Given the description of an element on the screen output the (x, y) to click on. 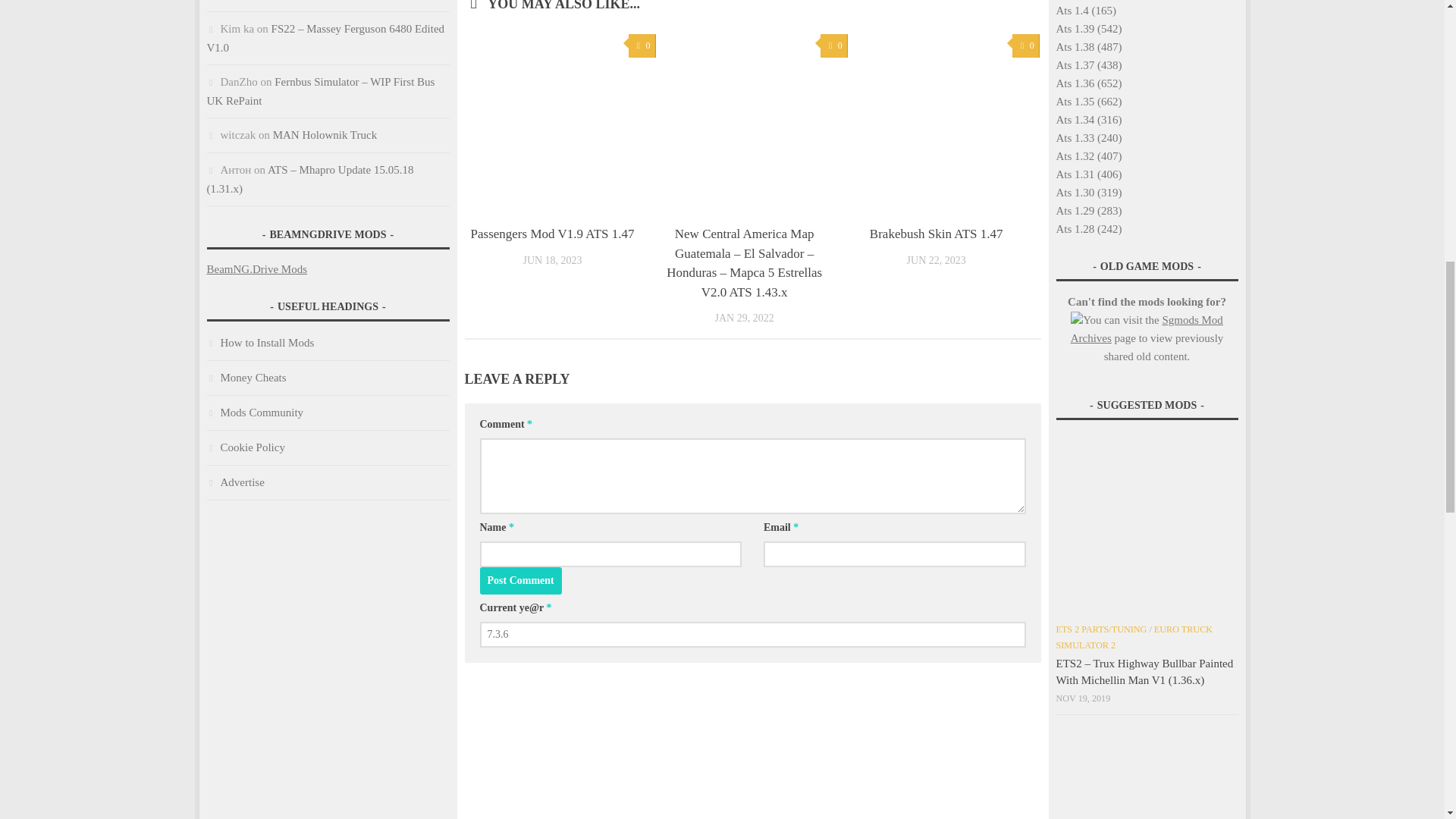
Post Comment (519, 580)
7.3.6 (752, 634)
